Given the description of an element on the screen output the (x, y) to click on. 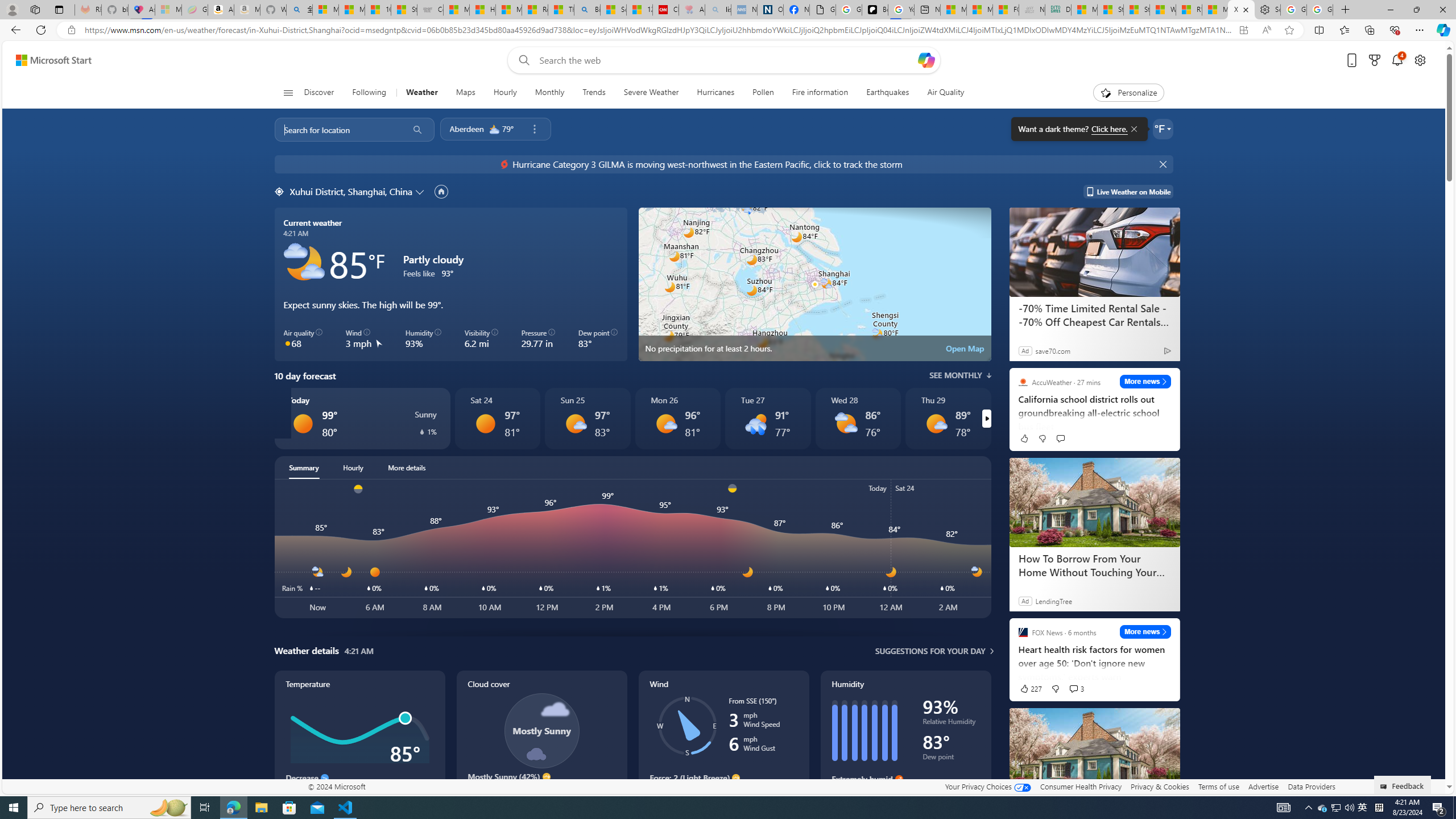
Search for location (337, 128)
More details (406, 467)
No precipitation for at least 2 hours (814, 284)
Maps (465, 92)
Arthritis: Ask Health Professionals - Sleeping (692, 9)
Partly sunny (845, 422)
Partly cloudy (303, 263)
Decrease (324, 777)
Maps (37, 325)
Air Quality (940, 92)
